Given the description of an element on the screen output the (x, y) to click on. 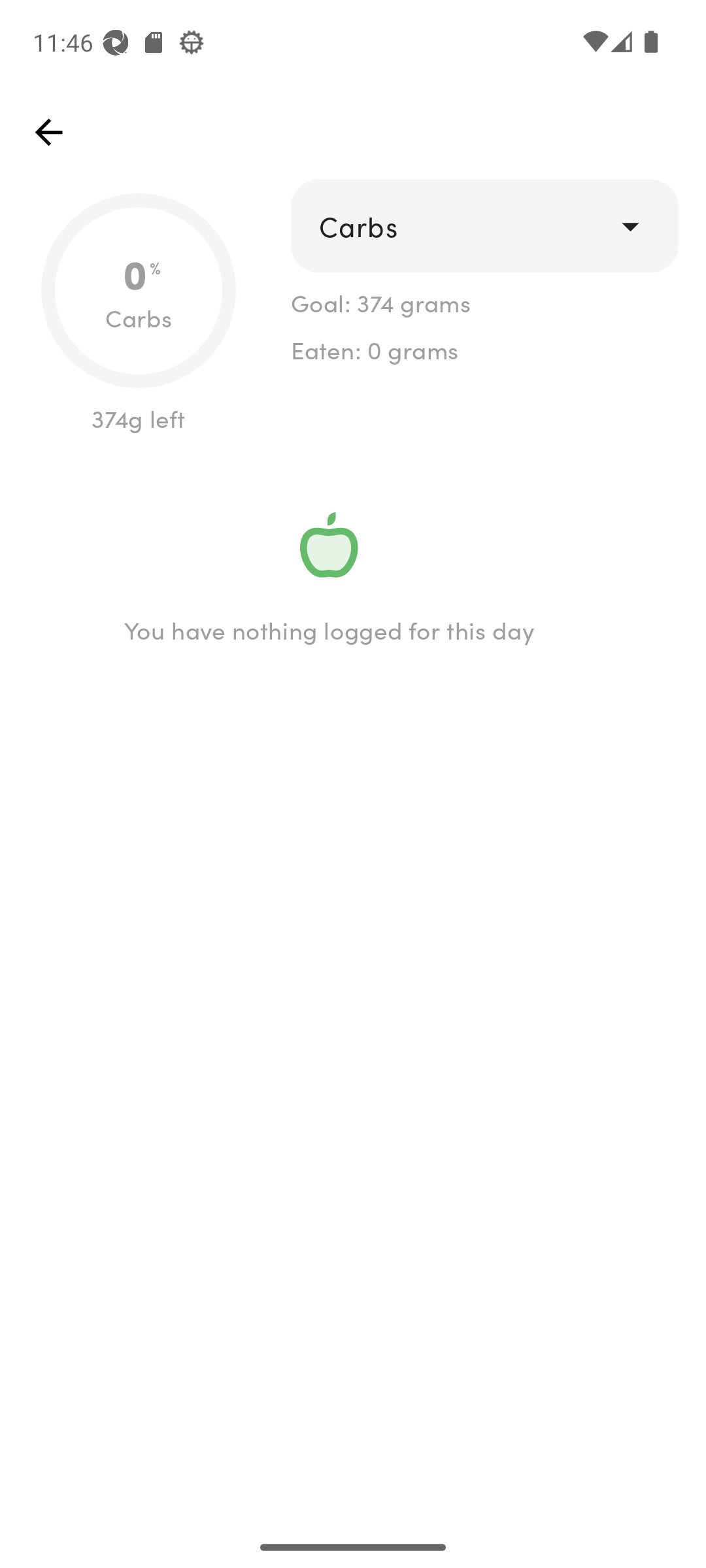
top_left_action (48, 132)
drop_down Carbs (484, 226)
